Given the description of an element on the screen output the (x, y) to click on. 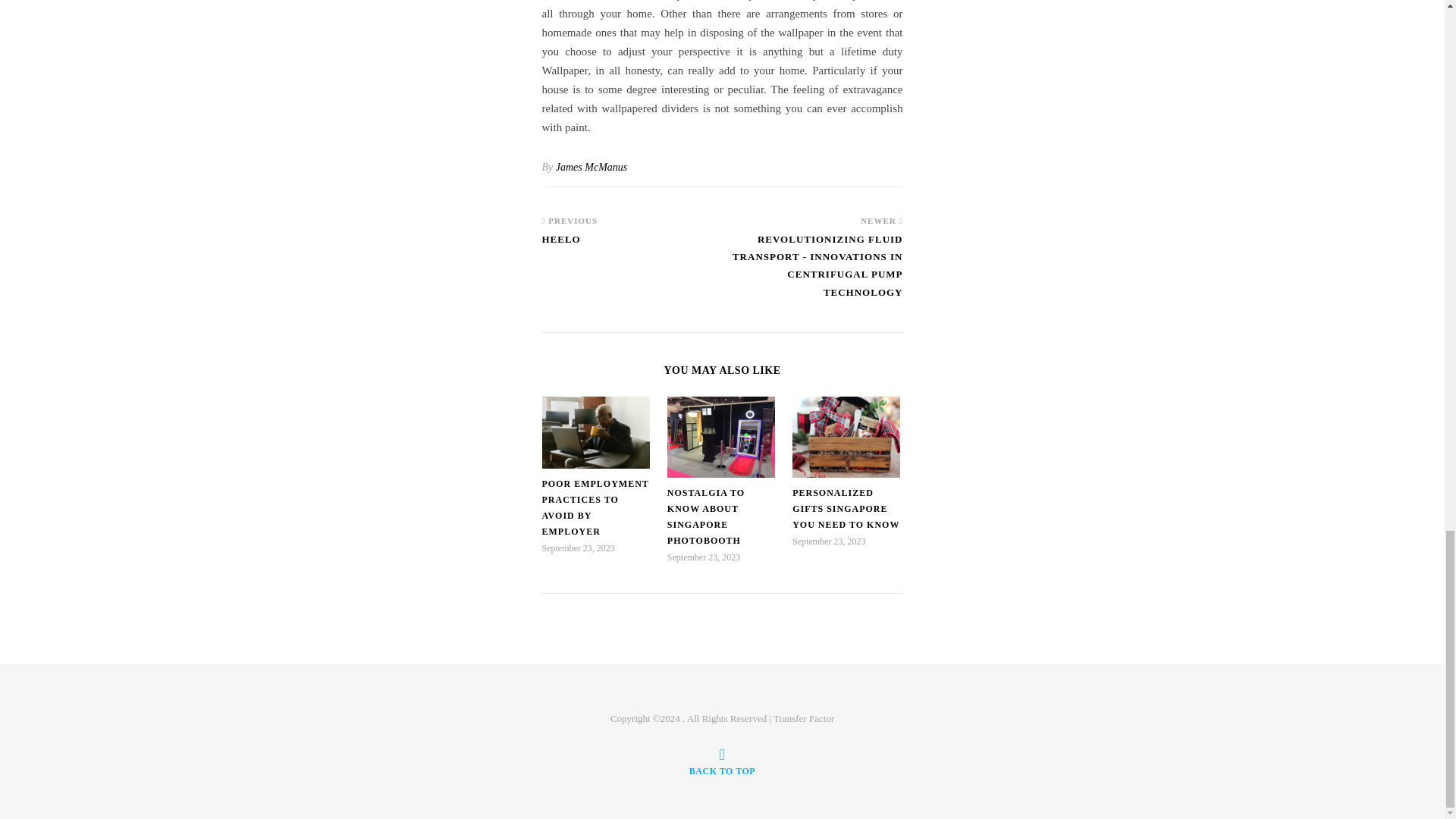
Posts by James McManus (591, 166)
heelo (568, 246)
BACK TO TOP (722, 761)
